Given the description of an element on the screen output the (x, y) to click on. 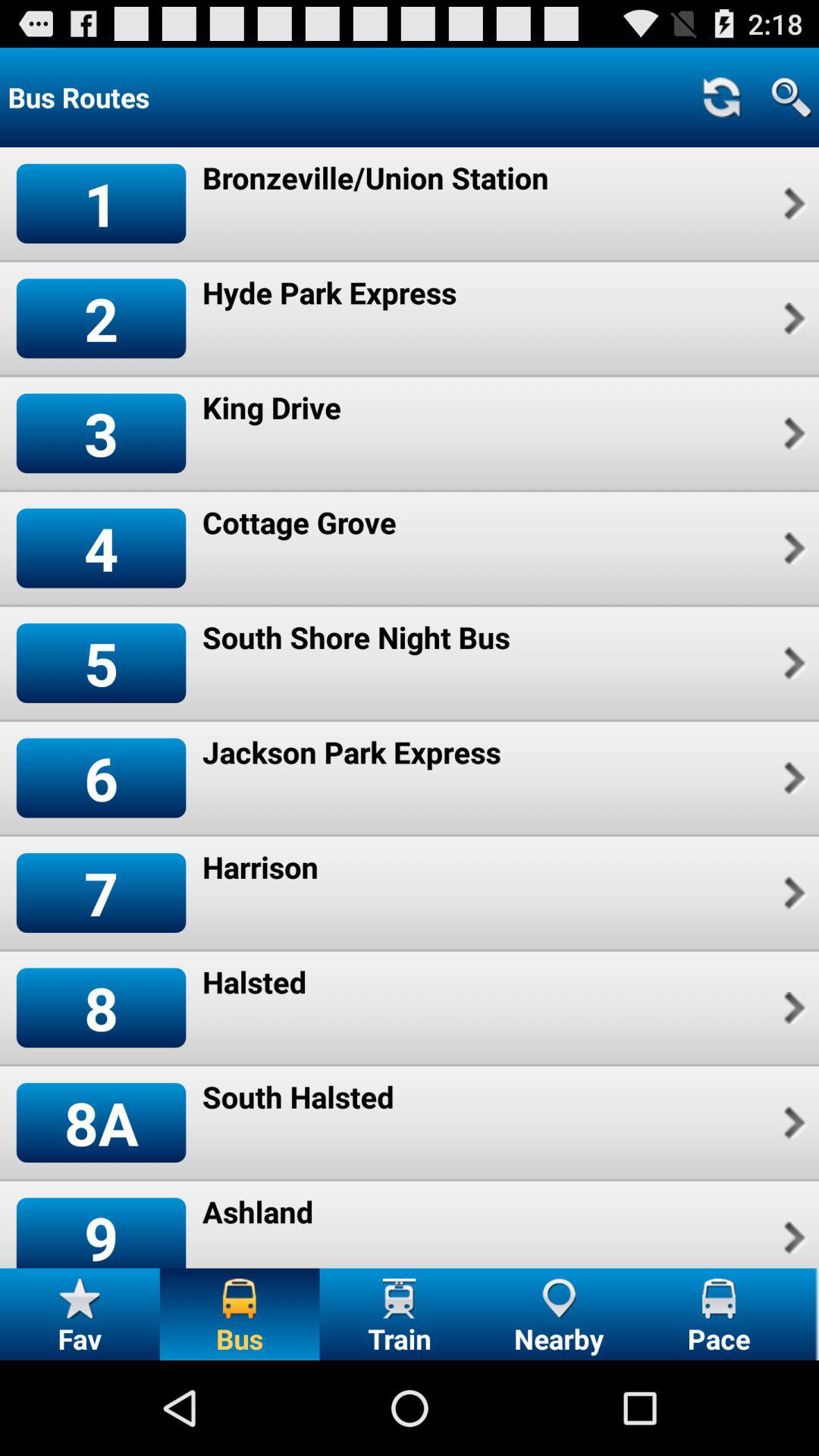
launch icon above 4 icon (100, 433)
